Given the description of an element on the screen output the (x, y) to click on. 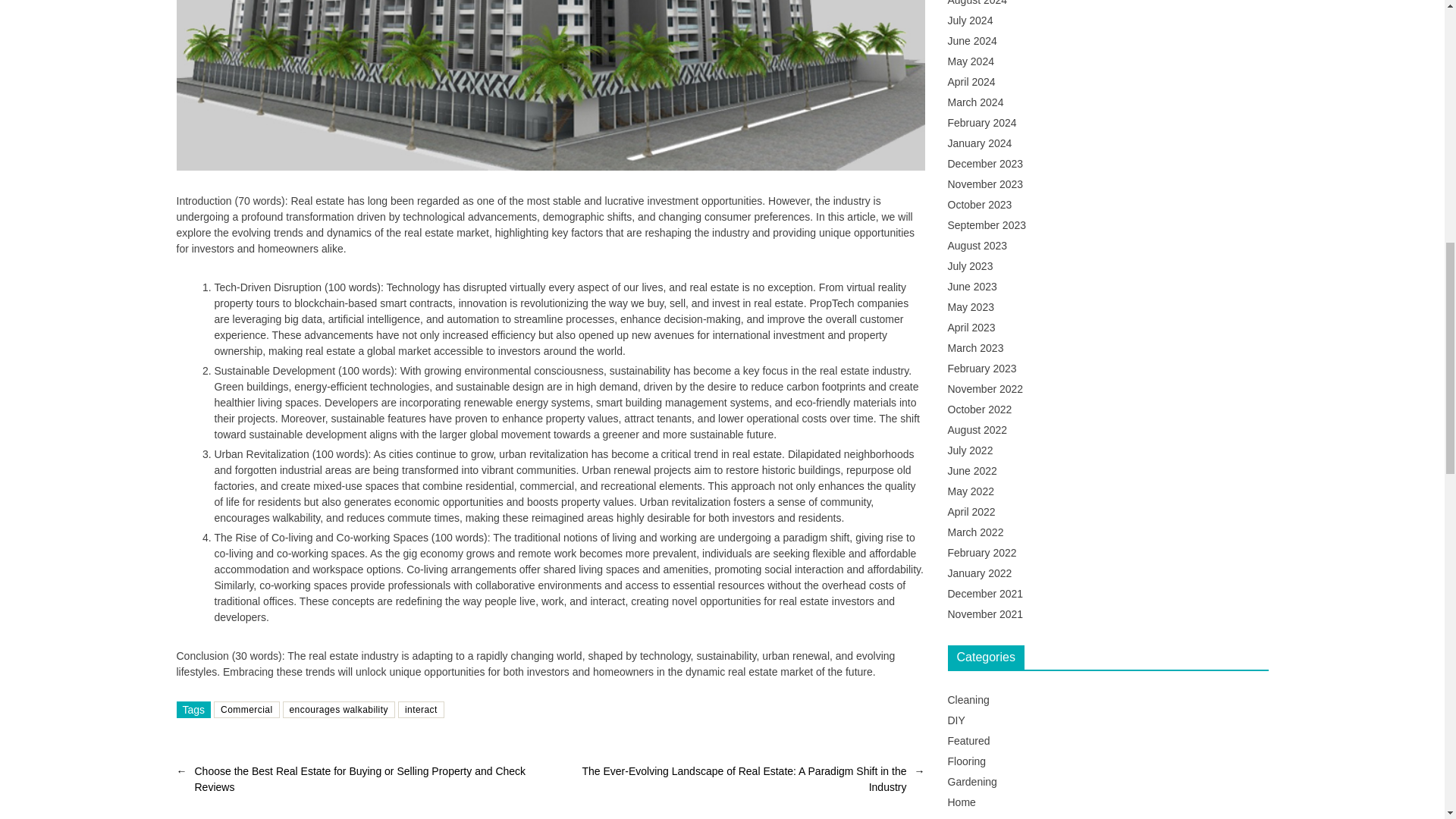
Commercial (246, 682)
interact (420, 682)
encourages walkability (338, 682)
